Given the description of an element on the screen output the (x, y) to click on. 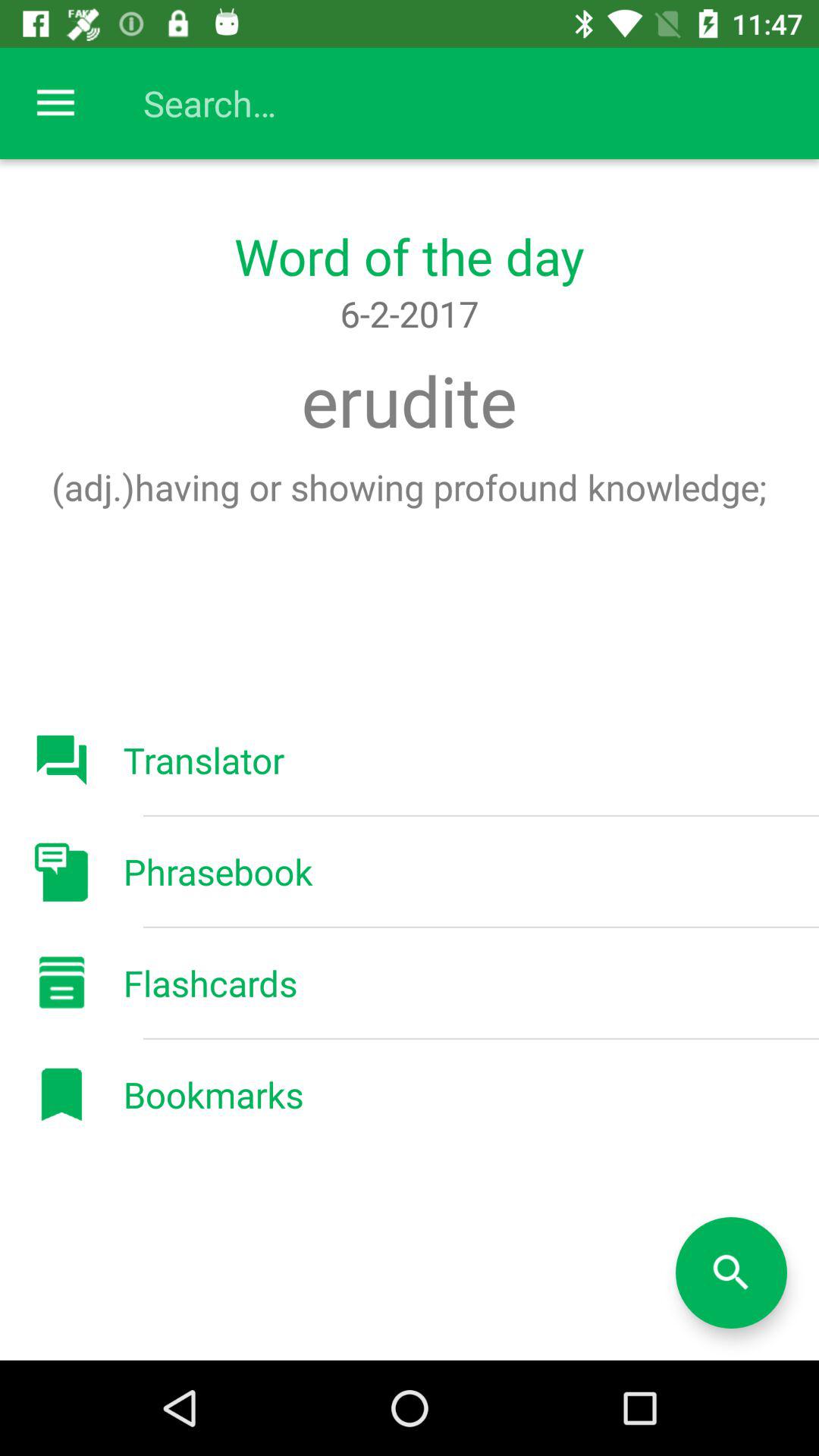
choose the translator item (203, 759)
